Given the description of an element on the screen output the (x, y) to click on. 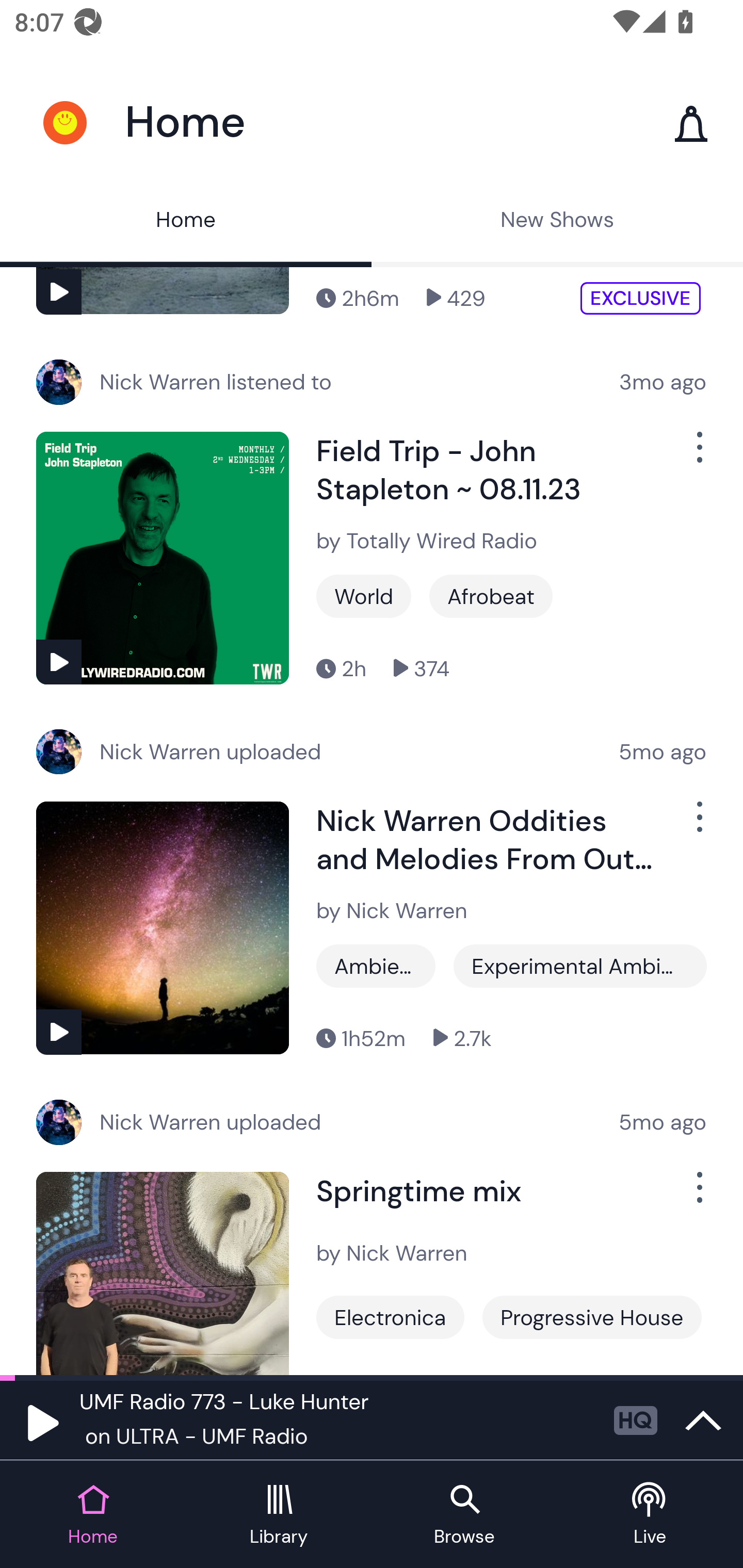
Home (185, 221)
New Shows (557, 221)
Show Options Menu Button (697, 454)
World (363, 595)
Afrobeat (490, 595)
Show Options Menu Button (697, 824)
Ambient (375, 965)
Experimental Ambient (579, 965)
Show Options Menu Button (697, 1194)
Electronica (390, 1317)
Progressive House (591, 1317)
Home tab Home (92, 1515)
Library tab Library (278, 1515)
Browse tab Browse (464, 1515)
Live tab Live (650, 1515)
